Given the description of an element on the screen output the (x, y) to click on. 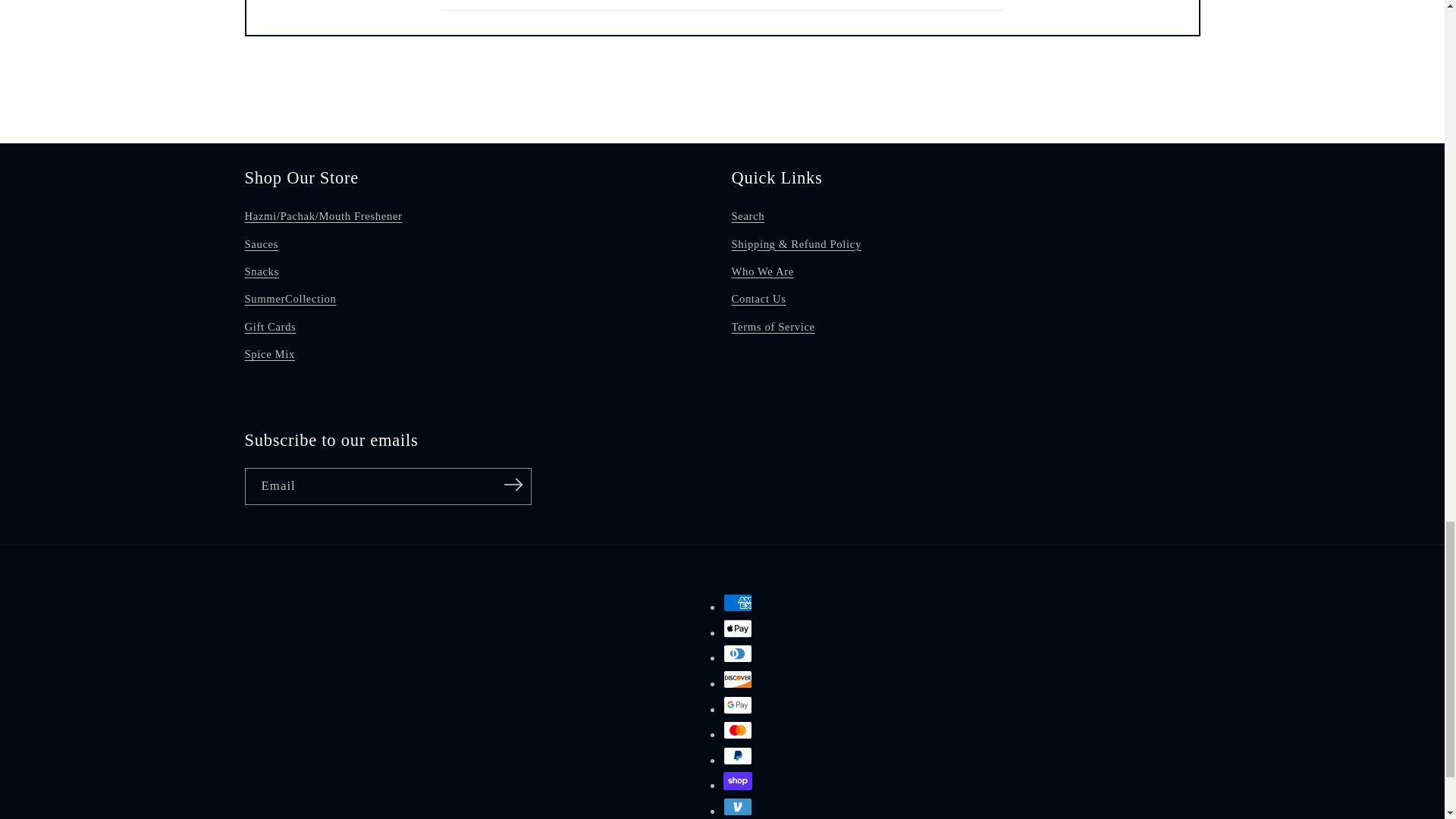
Apple Pay (737, 628)
Discover (737, 679)
Diners Club (737, 653)
American Express (737, 602)
Shop Pay (737, 781)
Mastercard (737, 730)
Google Pay (737, 705)
PayPal (737, 755)
